Given the description of an element on the screen output the (x, y) to click on. 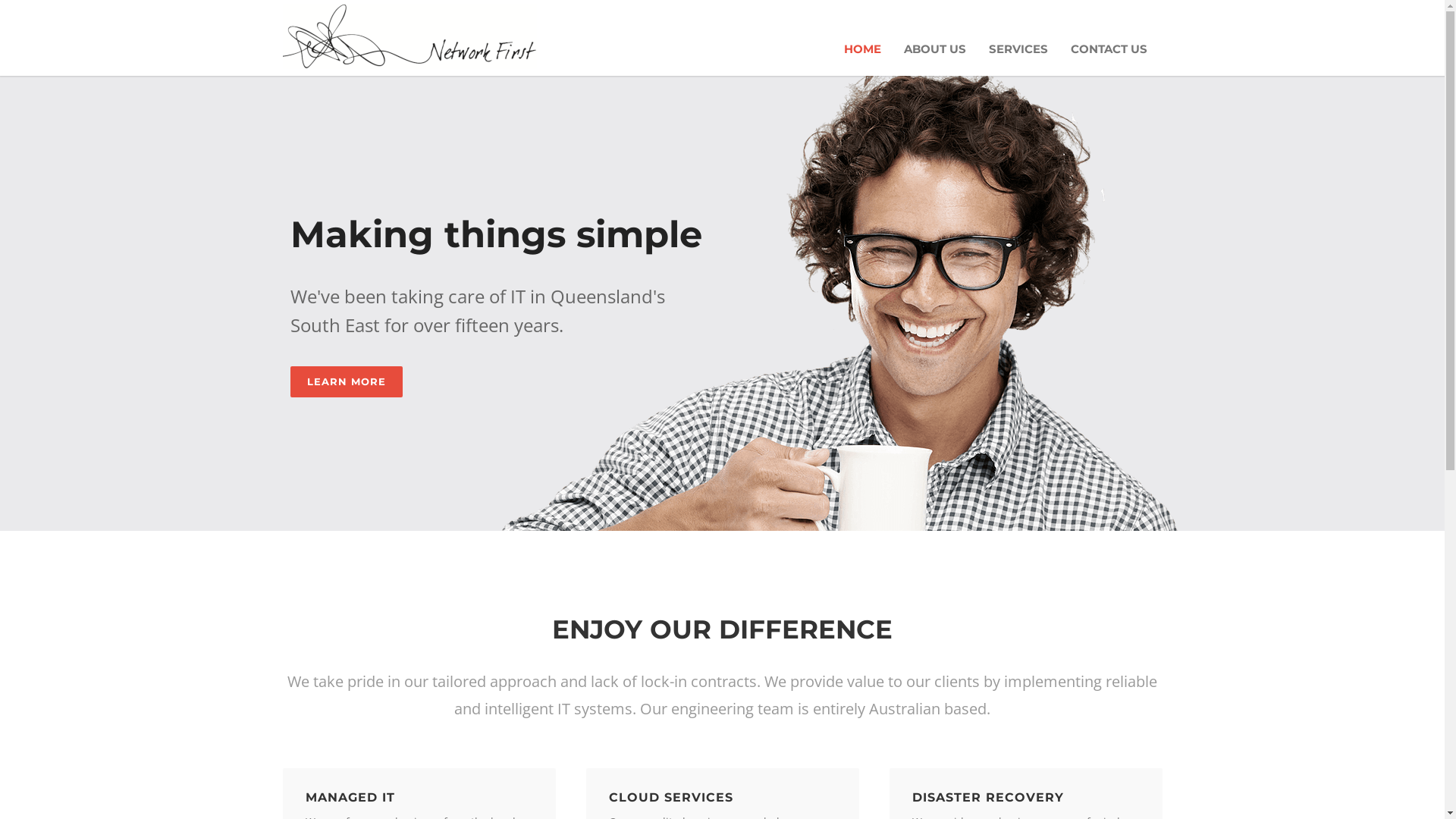
HOME Element type: text (862, 48)
LEARN MORE Element type: text (345, 381)
SERVICES Element type: text (1017, 48)
ABOUT US Element type: text (933, 48)
CONTACT US Element type: text (1107, 48)
